Given the description of an element on the screen output the (x, y) to click on. 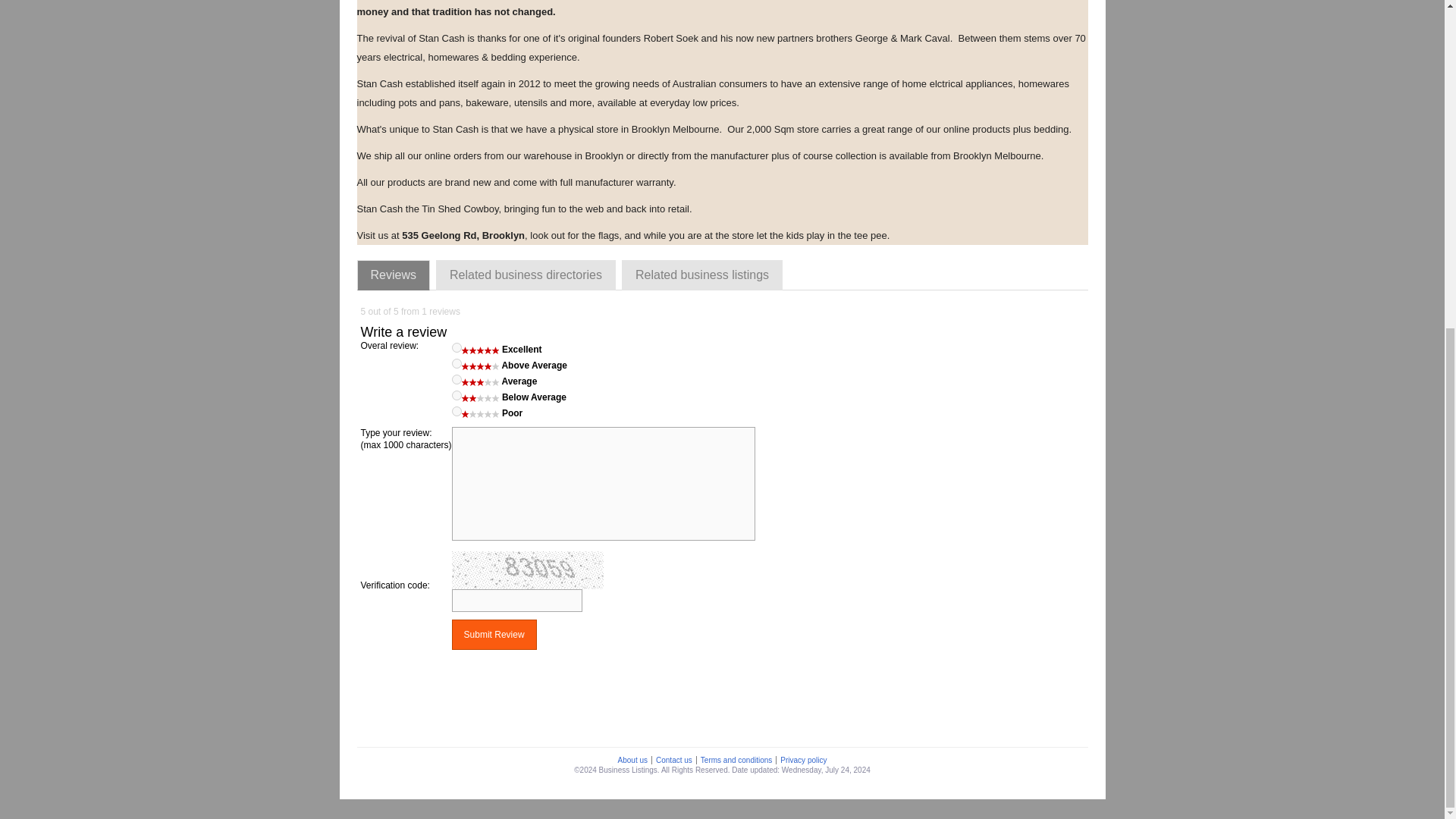
5 (456, 347)
Terms and conditions (736, 759)
1 (456, 411)
Submit Review (494, 634)
Privacy policy (802, 759)
Related business directories (525, 275)
Contact us (673, 759)
4 (456, 363)
Related business listings (702, 275)
Submit Review (494, 634)
Reviews (392, 275)
About us (632, 759)
3 (456, 379)
2 (456, 395)
